Given the description of an element on the screen output the (x, y) to click on. 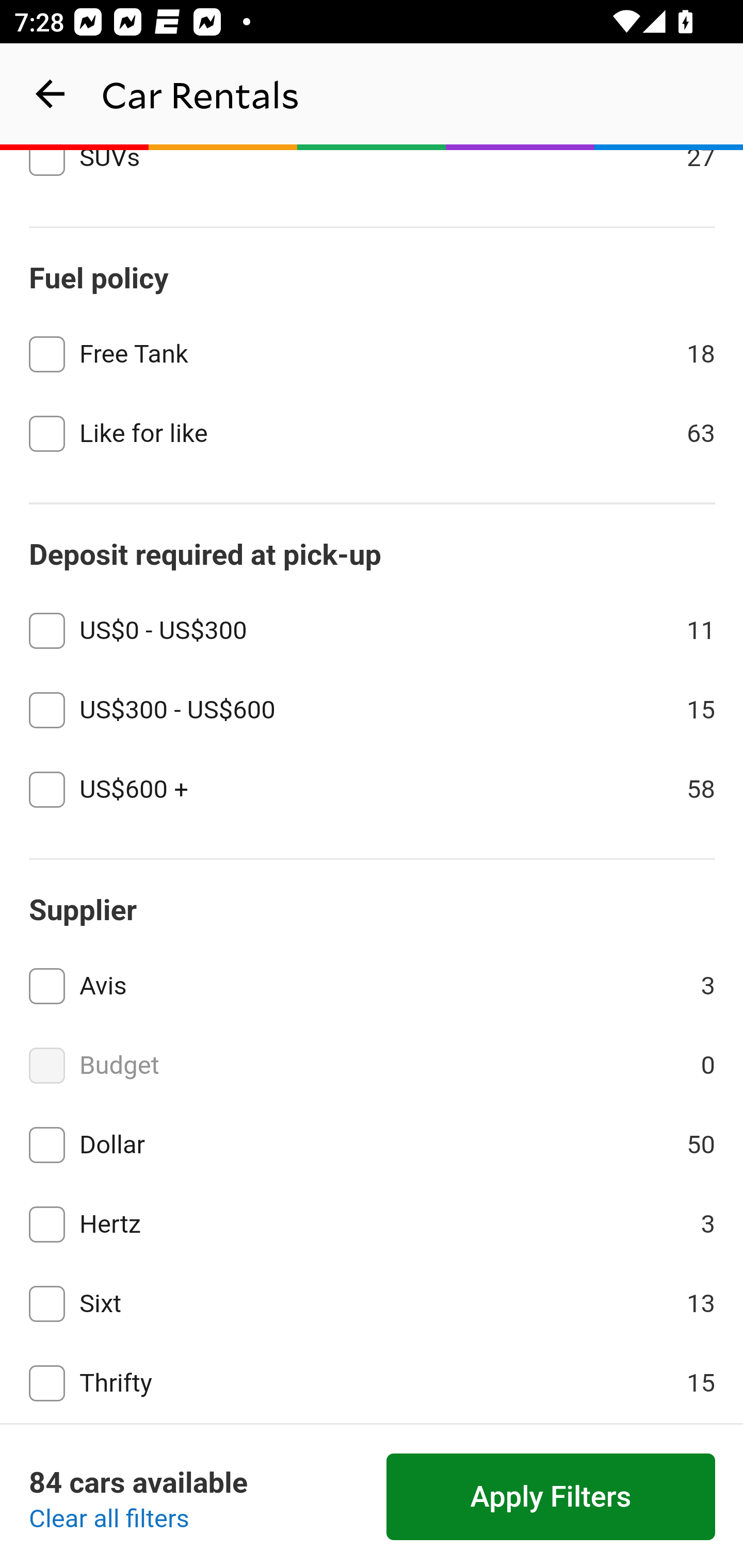
navigation_button (50, 93)
Apply Filters (551, 1497)
Clear all filters (108, 1519)
